Given the description of an element on the screen output the (x, y) to click on. 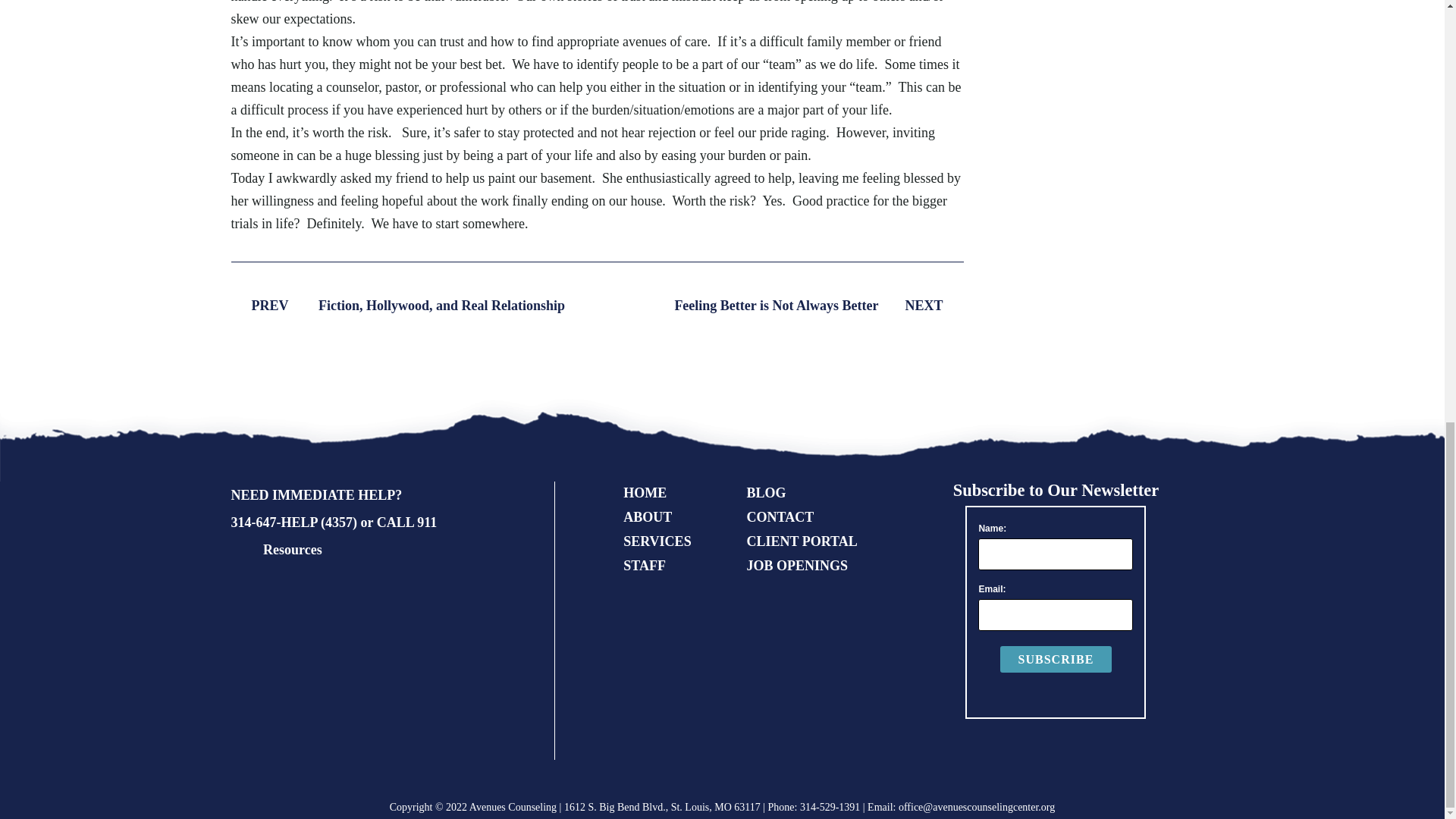
ABOUT (647, 516)
CLIENT PORTAL (801, 540)
Feeling Better is Not Always BetterNEXT (818, 305)
SUBSCRIBE (1056, 659)
Resources (292, 549)
STAFF (644, 565)
SUBSCRIBE (1056, 659)
SERVICES (656, 540)
BLOG (765, 492)
PREV Fiction, Hollywood, and Real Relationship (397, 305)
CONTACT (779, 516)
JOB OPENINGS (796, 565)
HOME (644, 492)
